Given the description of an element on the screen output the (x, y) to click on. 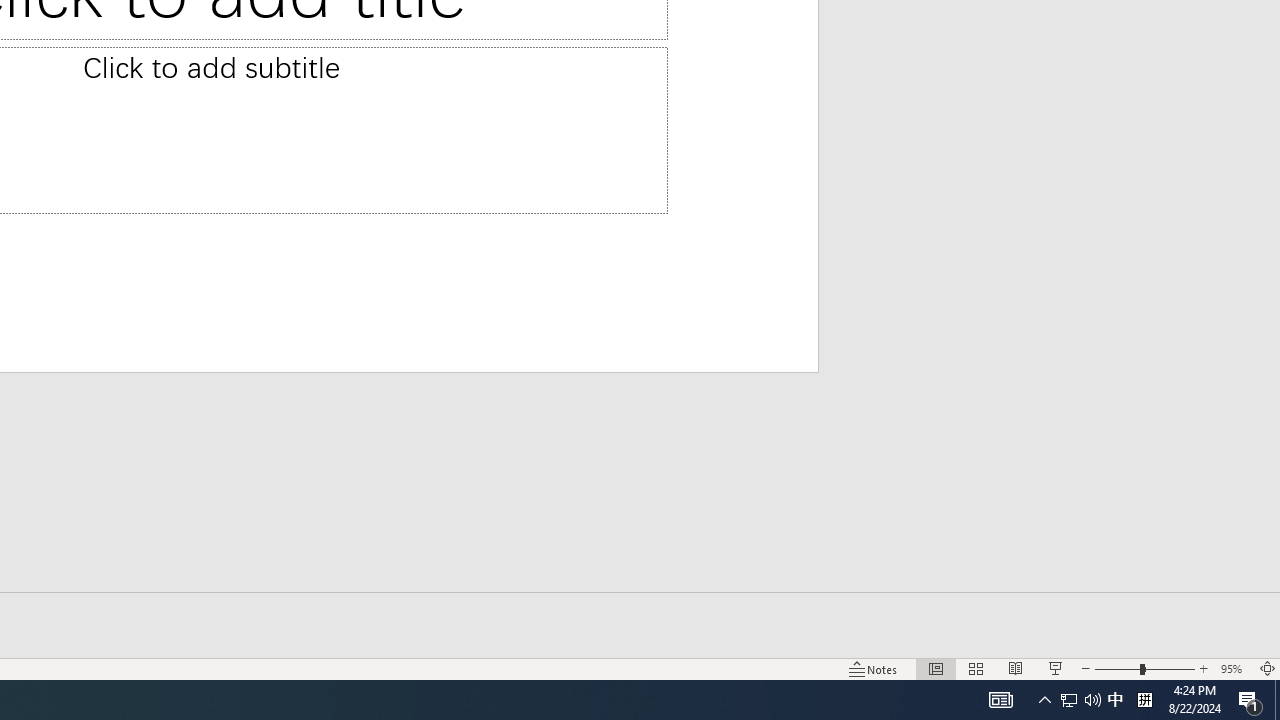
Zoom 95% (1234, 668)
